Given the description of an element on the screen output the (x, y) to click on. 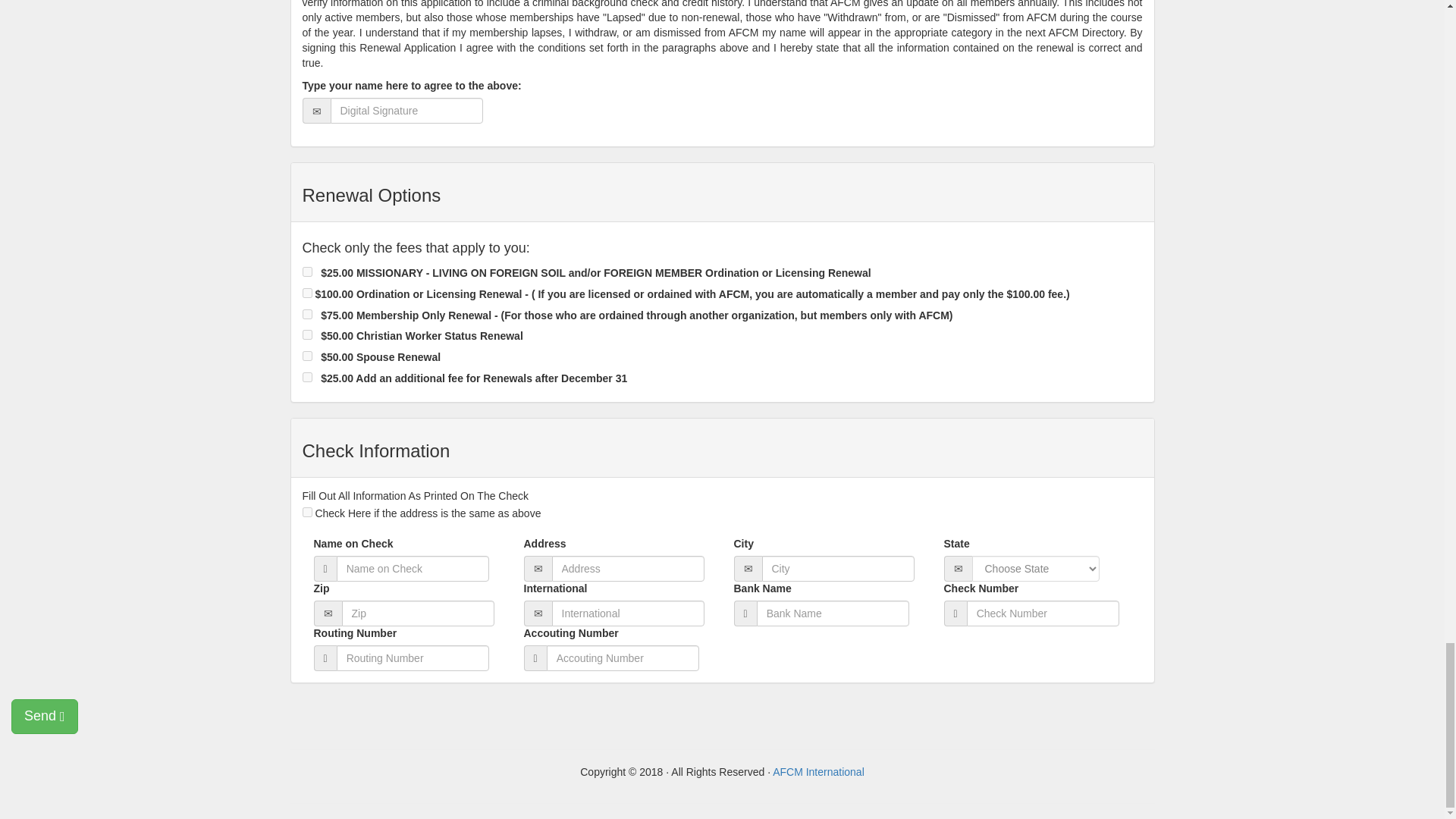
Send (44, 716)
AFCM International (818, 771)
